Given the description of an element on the screen output the (x, y) to click on. 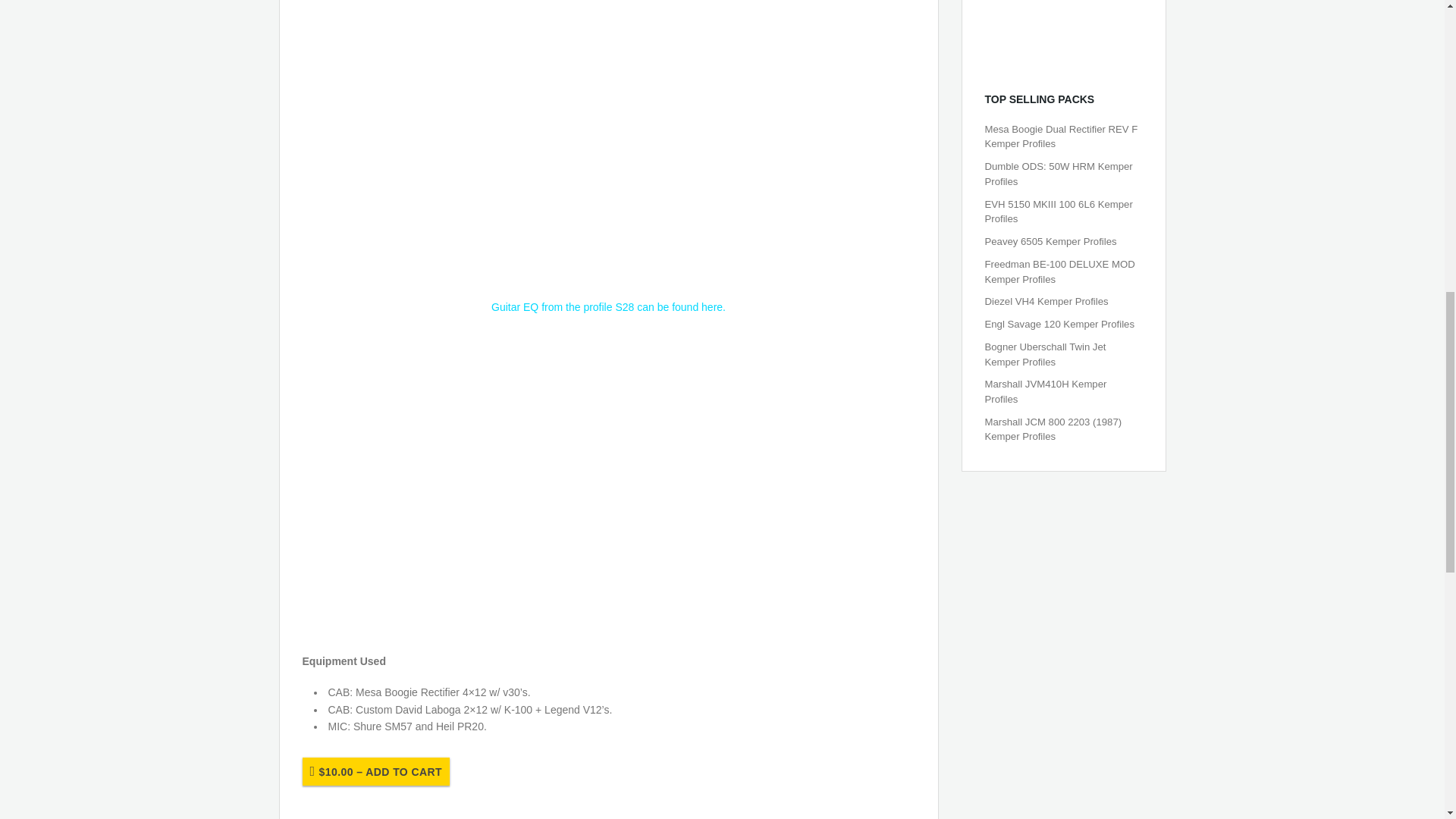
Bogner Uberschall Twin Jet Kemper Profiles (1044, 354)
Dumble ODS: 50W HRM Kemper Profiles (1058, 173)
Peavey 6505 Kemper Profiles (1050, 241)
Engl Savage 120 Kemper Profiles (1059, 324)
EVH 5150 MKIII 100 6L6 Kemper Profiles (1058, 212)
Diezel VH4 Kemper Profiles (1046, 301)
Guitar EQ from the profile S28 can be found here. (608, 306)
Peavey 6505 Kemper Profiles (1050, 241)
Freedman BE-100 DELUXE MOD Kemper Profiles (1059, 271)
Dumble ODS: 50W HRM Kemper Profiles (1058, 173)
